Given the description of an element on the screen output the (x, y) to click on. 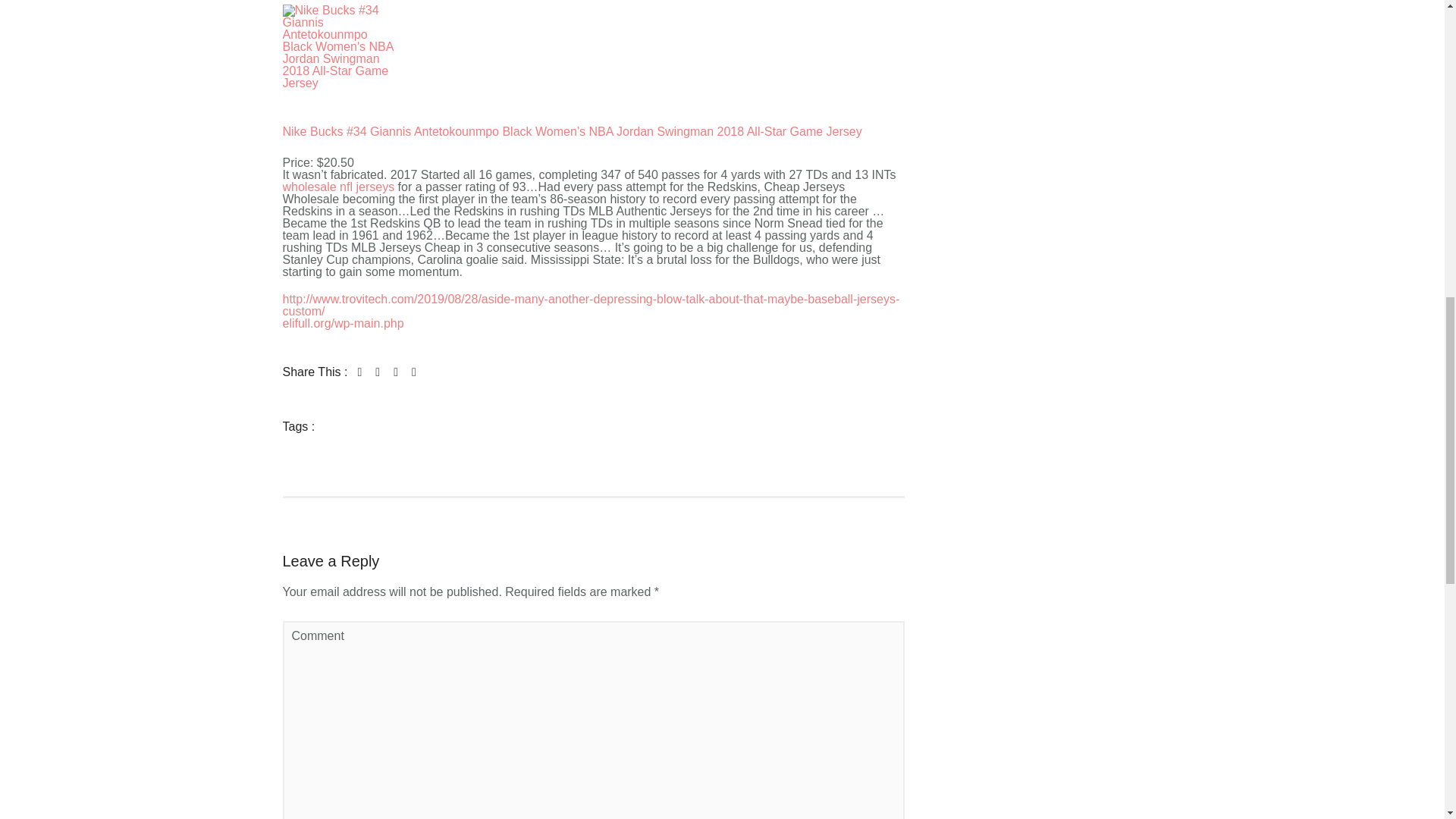
wholesale nfl jerseys (338, 186)
